Given the description of an element on the screen output the (x, y) to click on. 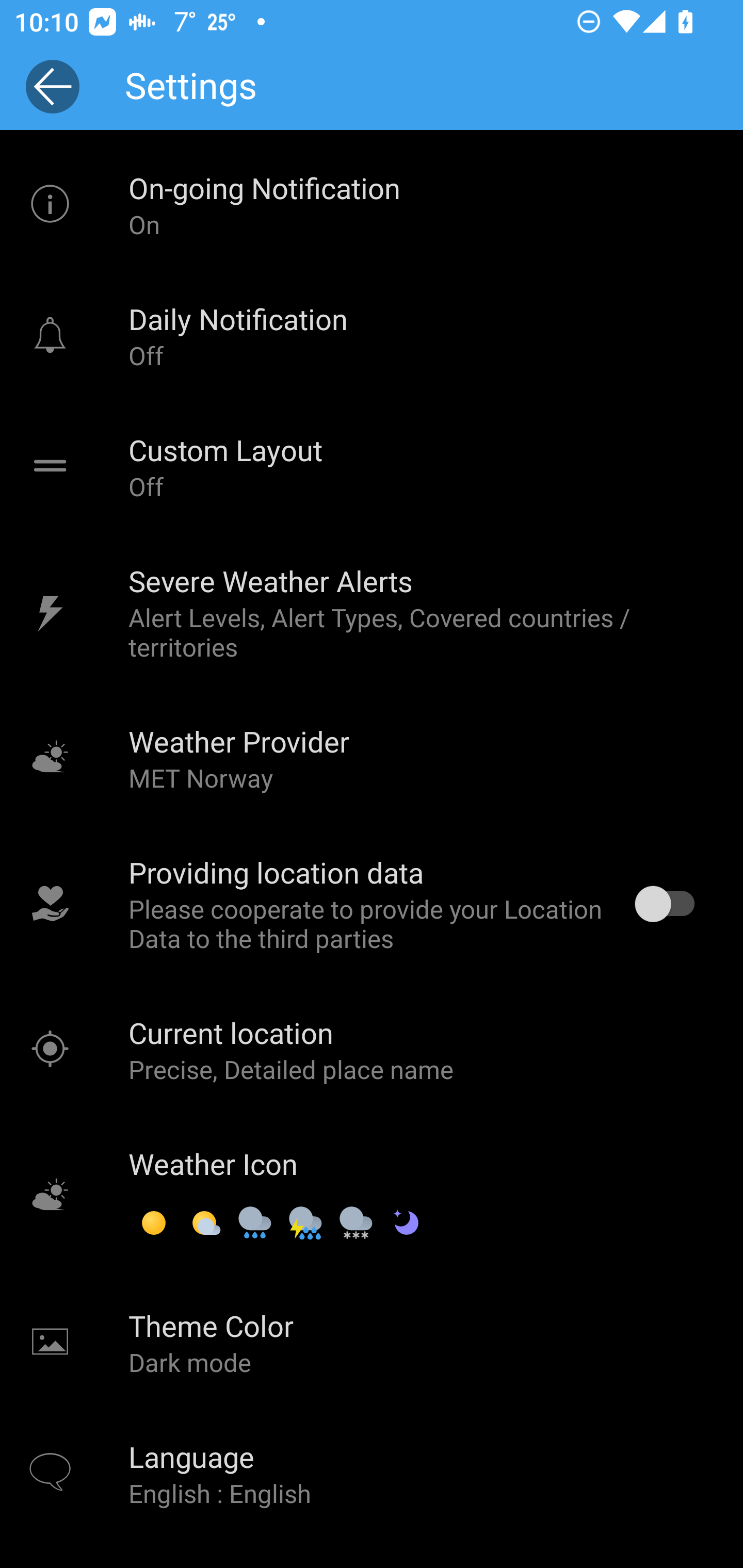
 On-going Notification On (371, 204)
 Daily Notification Off (371, 335)
 Custom Layout Off (371, 466)
 Weather Provider MET Norway (371, 758)
 Current location Precise, Detailed place name (371, 1049)
 Weather Icon (371, 1195)
 Theme Color Dark mode (371, 1342)
 Language English : English (371, 1473)
